Given the description of an element on the screen output the (x, y) to click on. 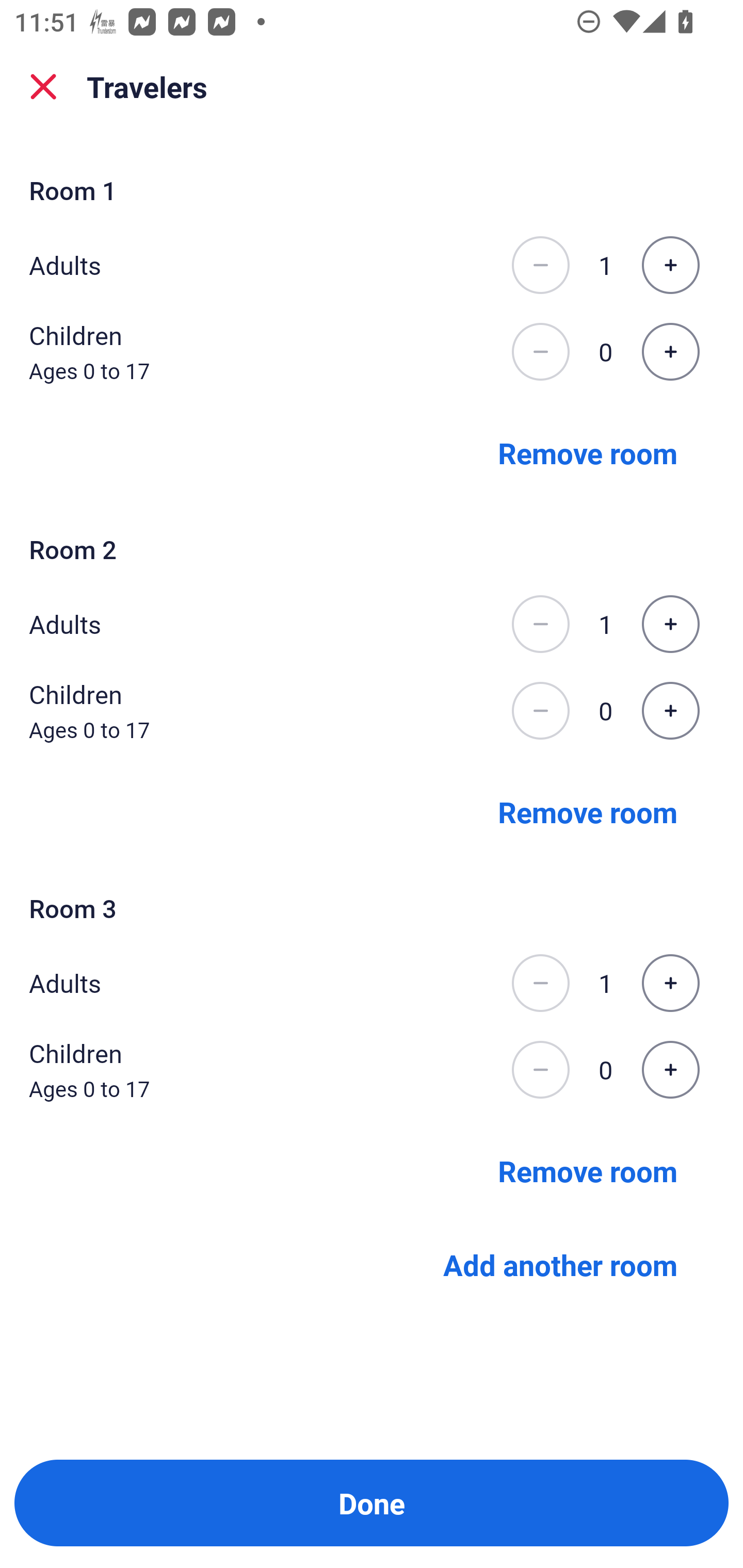
close (43, 86)
Decrease the number of adults (540, 264)
Increase the number of adults (670, 264)
Decrease the number of children (540, 351)
Increase the number of children (670, 351)
Remove room (588, 452)
Decrease the number of adults (540, 623)
Increase the number of adults (670, 623)
Decrease the number of children (540, 710)
Increase the number of children (670, 710)
Remove room (588, 811)
Decrease the number of adults (540, 983)
Increase the number of adults (670, 983)
Decrease the number of children (540, 1070)
Increase the number of children (670, 1070)
Remove room (588, 1170)
Add another room (560, 1264)
Done (371, 1502)
